Given the description of an element on the screen output the (x, y) to click on. 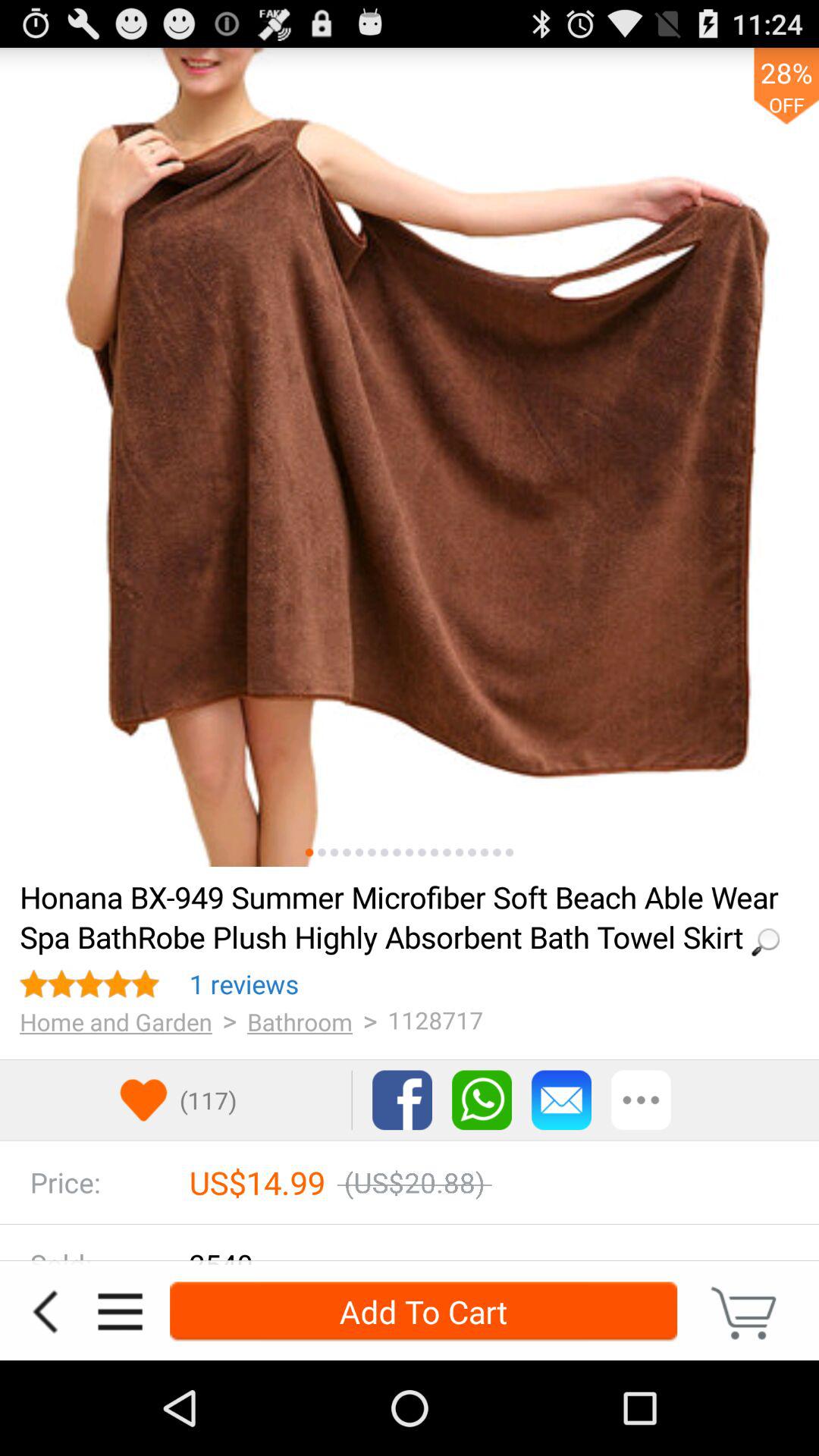
choose the icon next to the > item (244, 983)
